Given the description of an element on the screen output the (x, y) to click on. 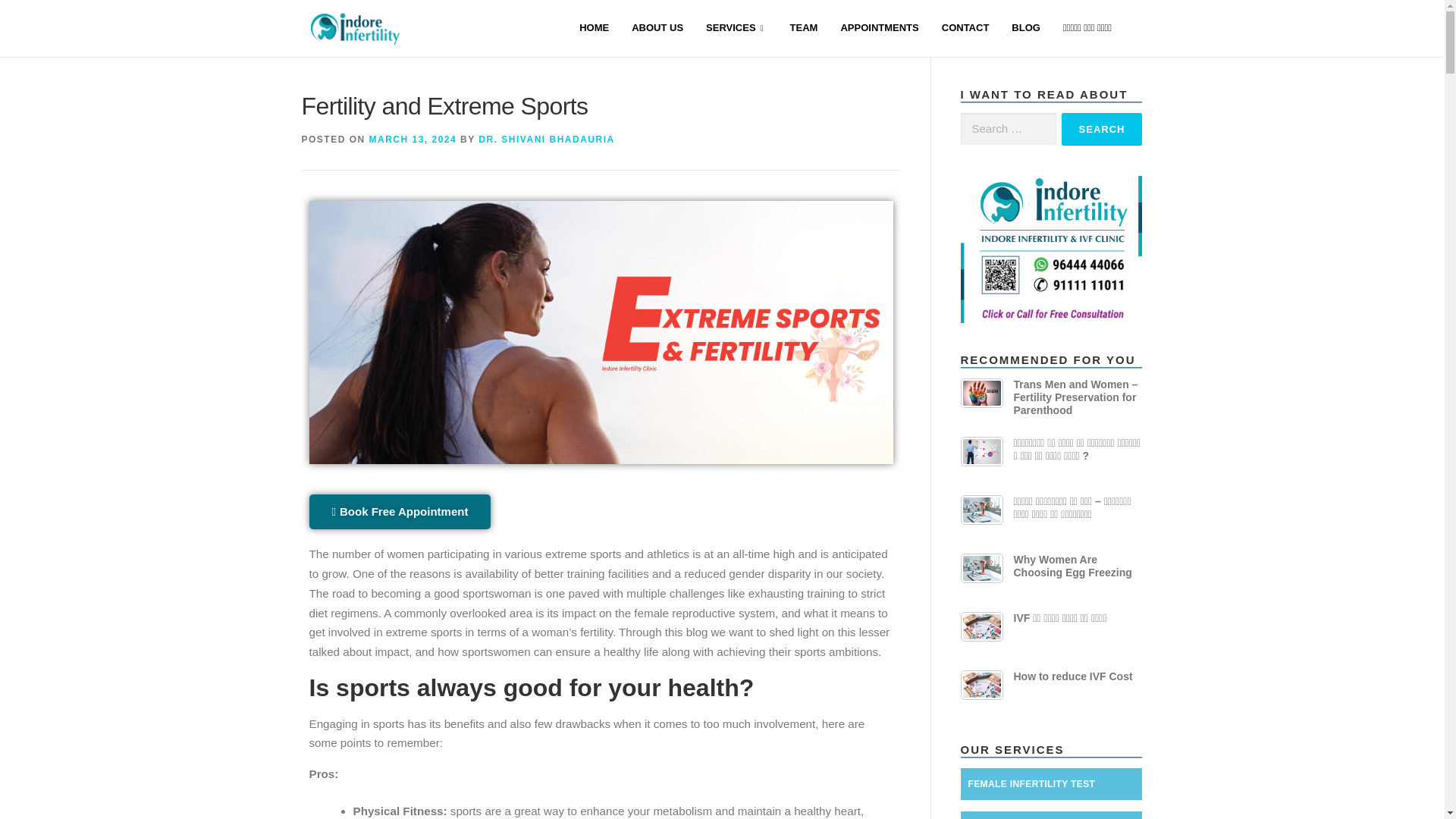
TEAM (803, 28)
CONTACT (965, 28)
Search (1101, 129)
Search (1101, 129)
APPOINTMENTS (879, 28)
ABOUT US (657, 28)
SERVICES (736, 28)
BLOG (1025, 28)
HOME (593, 28)
